Given the description of an element on the screen output the (x, y) to click on. 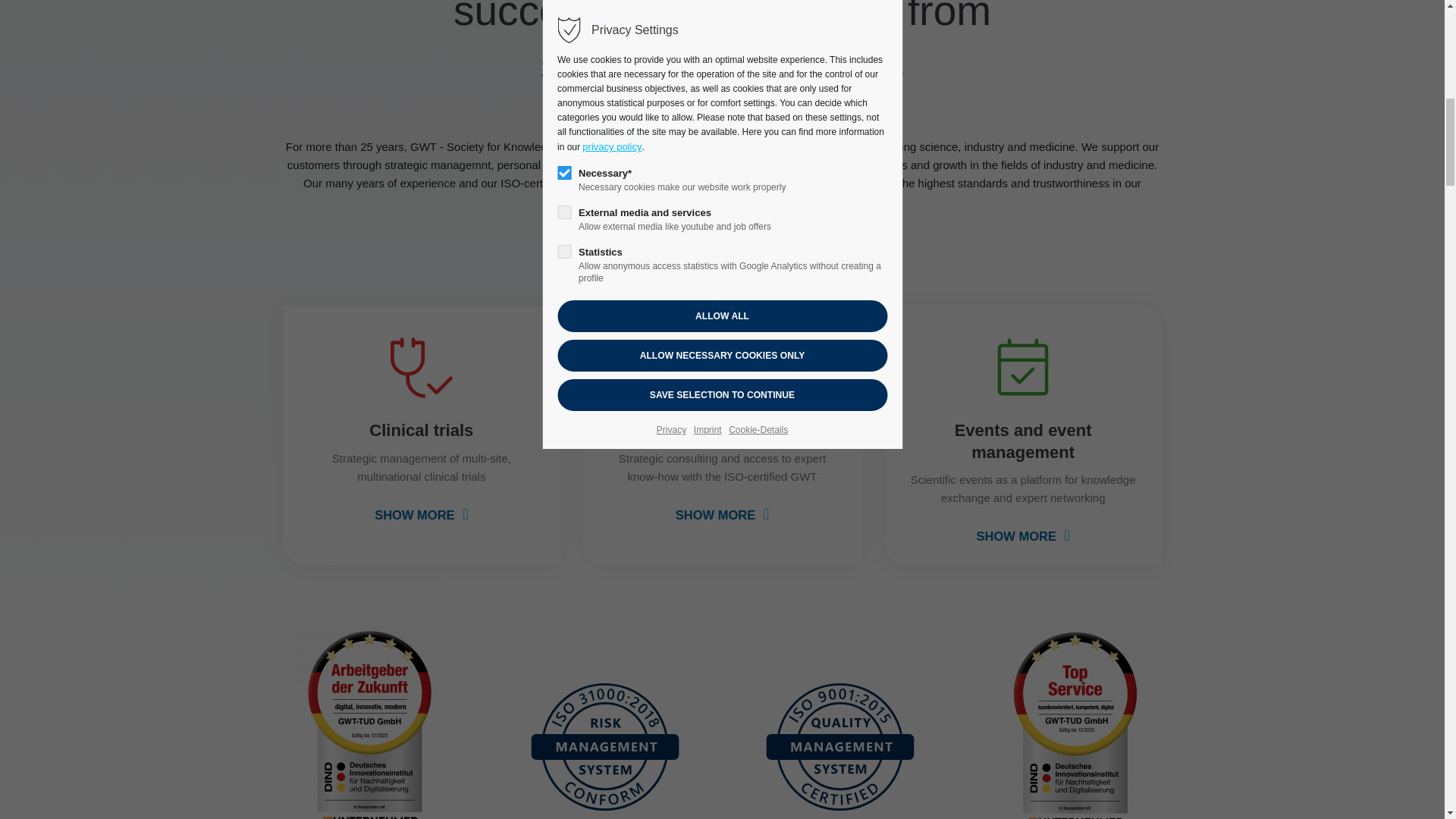
Learn more about GWT (721, 232)
Industry projects (722, 431)
SHOW MORE (1023, 535)
Seal Employer of the Future (369, 722)
SHOW MORE (721, 514)
Seal Top Service German Innovation Institute (1074, 722)
Events and event management (1022, 441)
LEARN MORE (721, 232)
Clinical trials (421, 431)
Seal ISO Quality Management (839, 744)
Seal ISO Risk Management (605, 744)
SHOW MORE (420, 514)
